Given the description of an element on the screen output the (x, y) to click on. 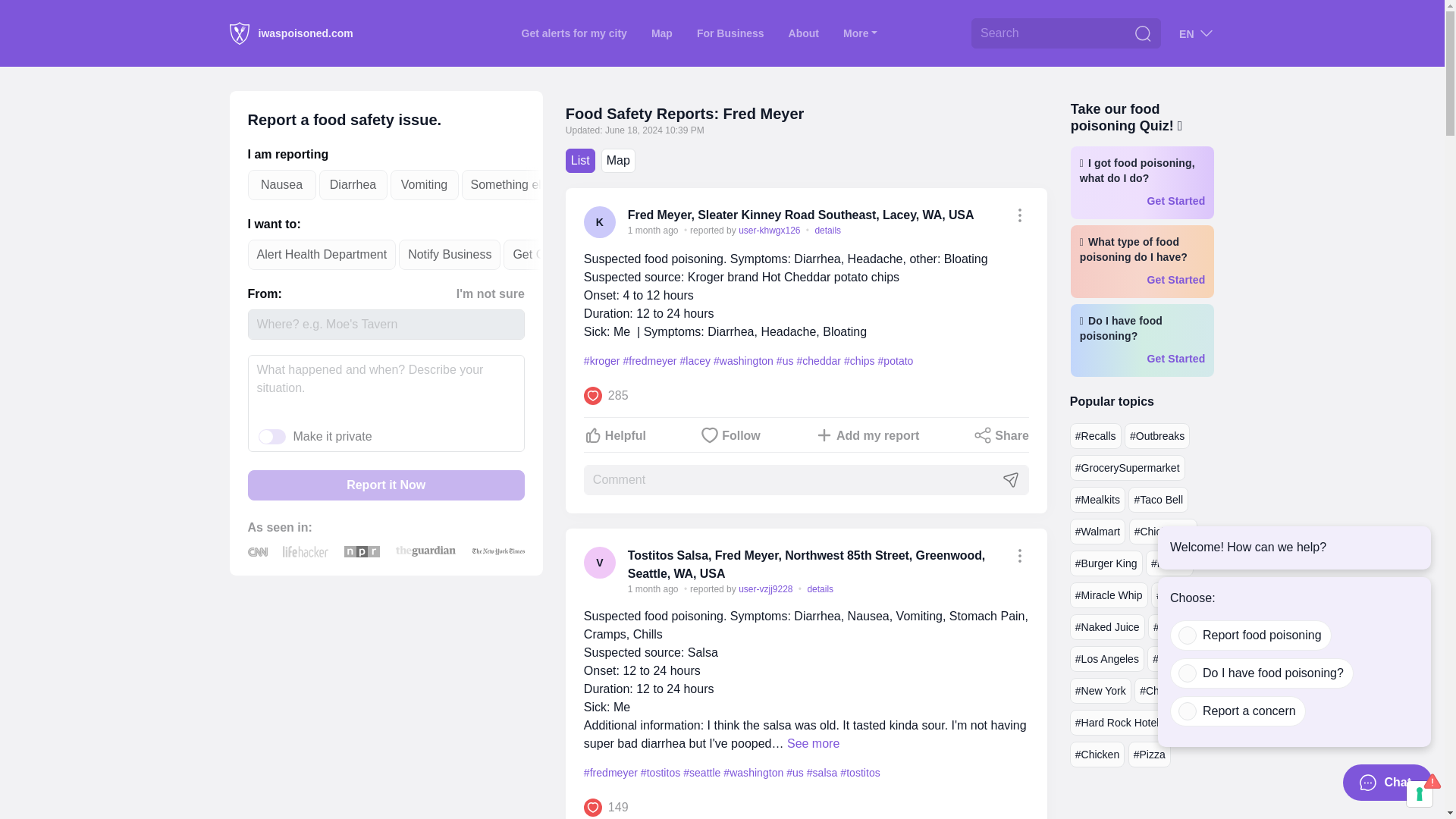
on (1186, 673)
Get alerts for my city (574, 33)
iwaspoisoned.com (290, 33)
Fred Meyer, Sleater Kinney Road Southeast, Lacey, WA, USA (800, 214)
About (803, 33)
on (1186, 710)
Copied (1019, 556)
on (1186, 635)
Report it Now (385, 485)
For Business (730, 33)
Copied (1019, 215)
More (860, 33)
Map (661, 33)
EN (1196, 33)
